Given the description of an element on the screen output the (x, y) to click on. 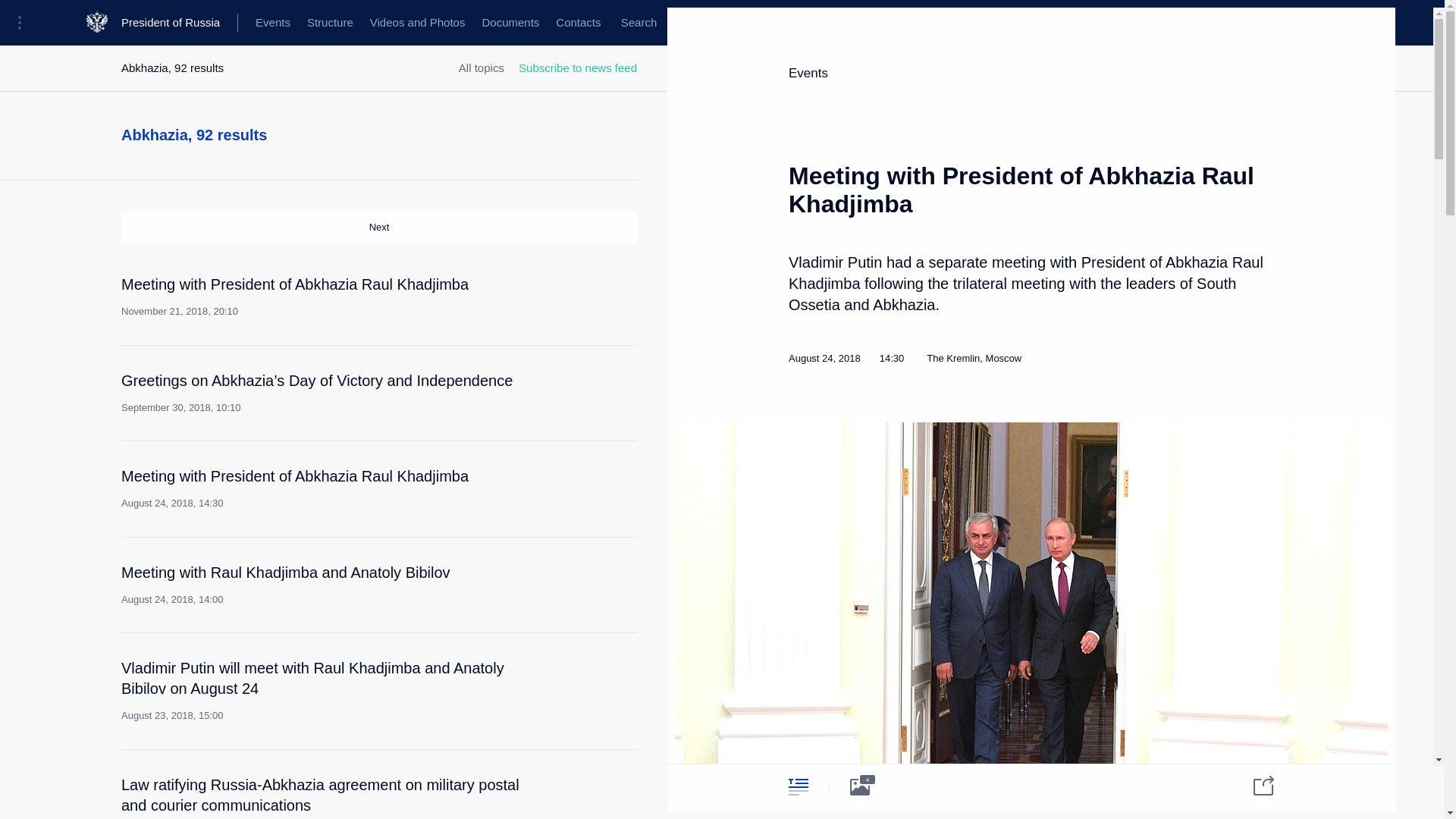
Photo (859, 786)
Global website search (638, 22)
Share (1253, 784)
Portal Menu (24, 22)
Documents (510, 22)
Videos and Photos (417, 22)
Contacts (577, 22)
President of Russia (179, 22)
Search (638, 22)
Text (798, 786)
All topics (480, 67)
Events (272, 22)
